Given the description of an element on the screen output the (x, y) to click on. 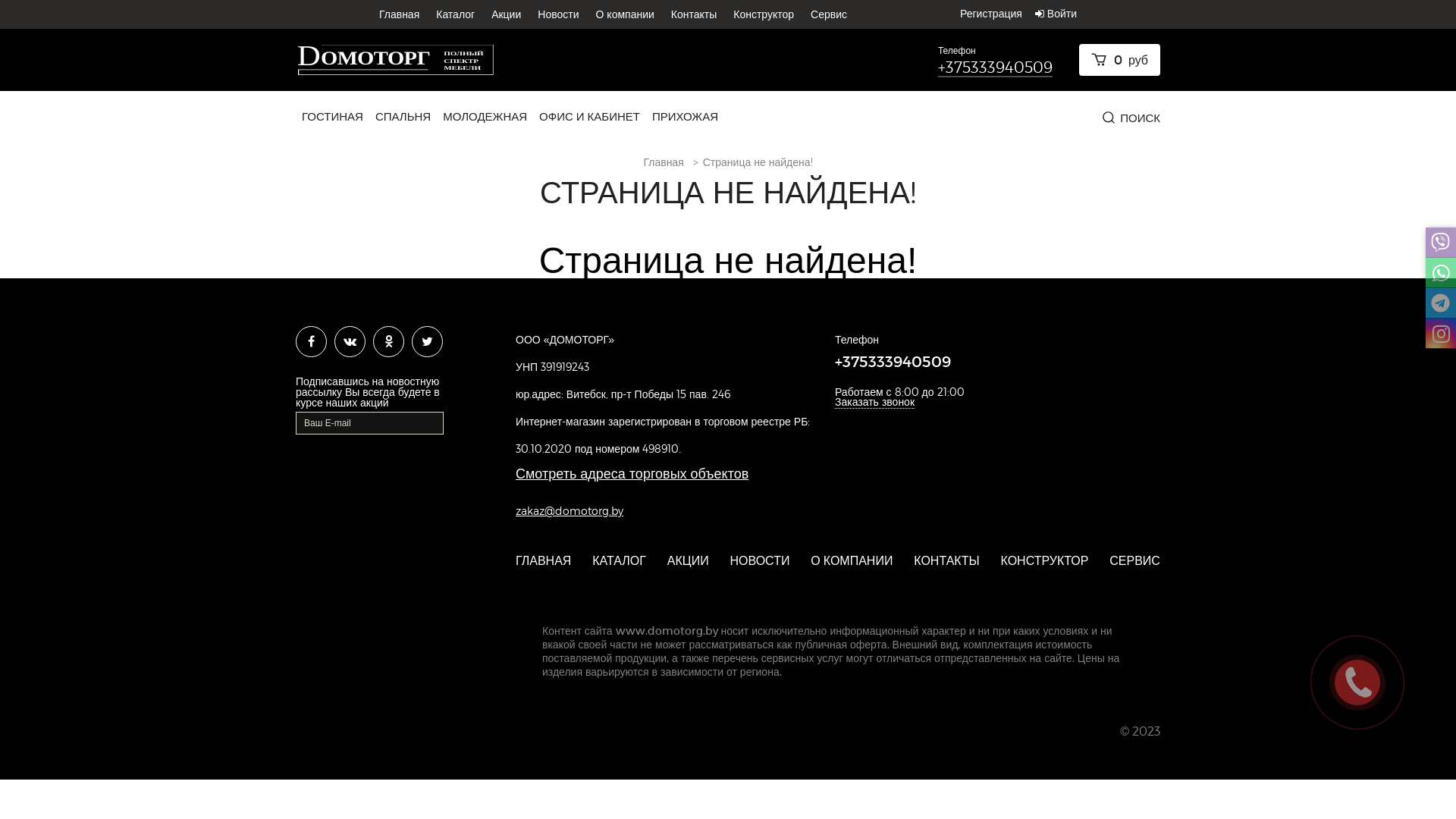
zakaz@domotorg.by Element type: text (569, 510)
+375333940509 Element type: text (995, 67)
